Given the description of an element on the screen output the (x, y) to click on. 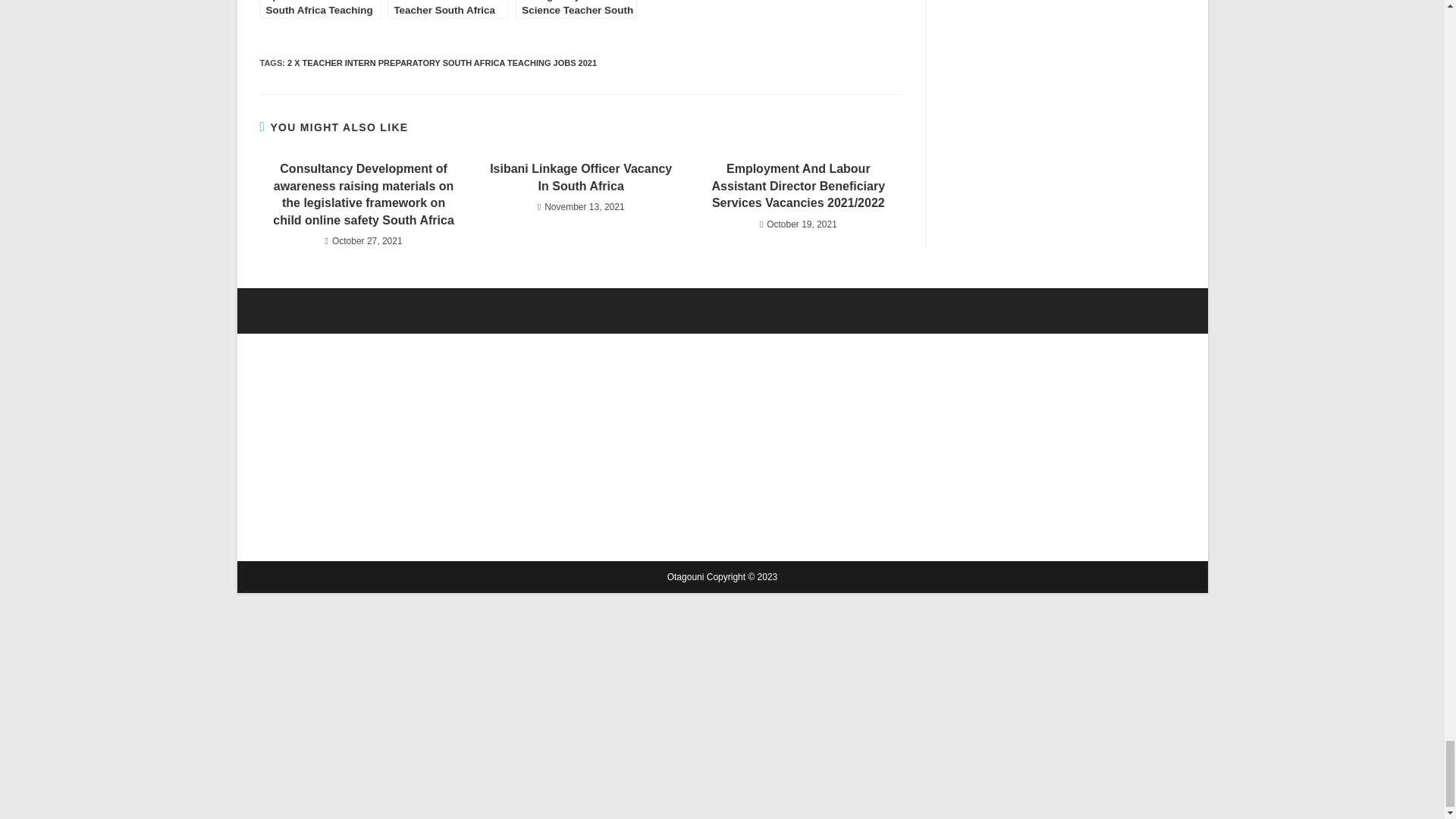
Specialist Art Teacher South Africa Teaching Jobs 2021 (319, 9)
Intersen Mathematics Teacher South Africa Teaching Jobs 2021 (447, 9)
